Given the description of an element on the screen output the (x, y) to click on. 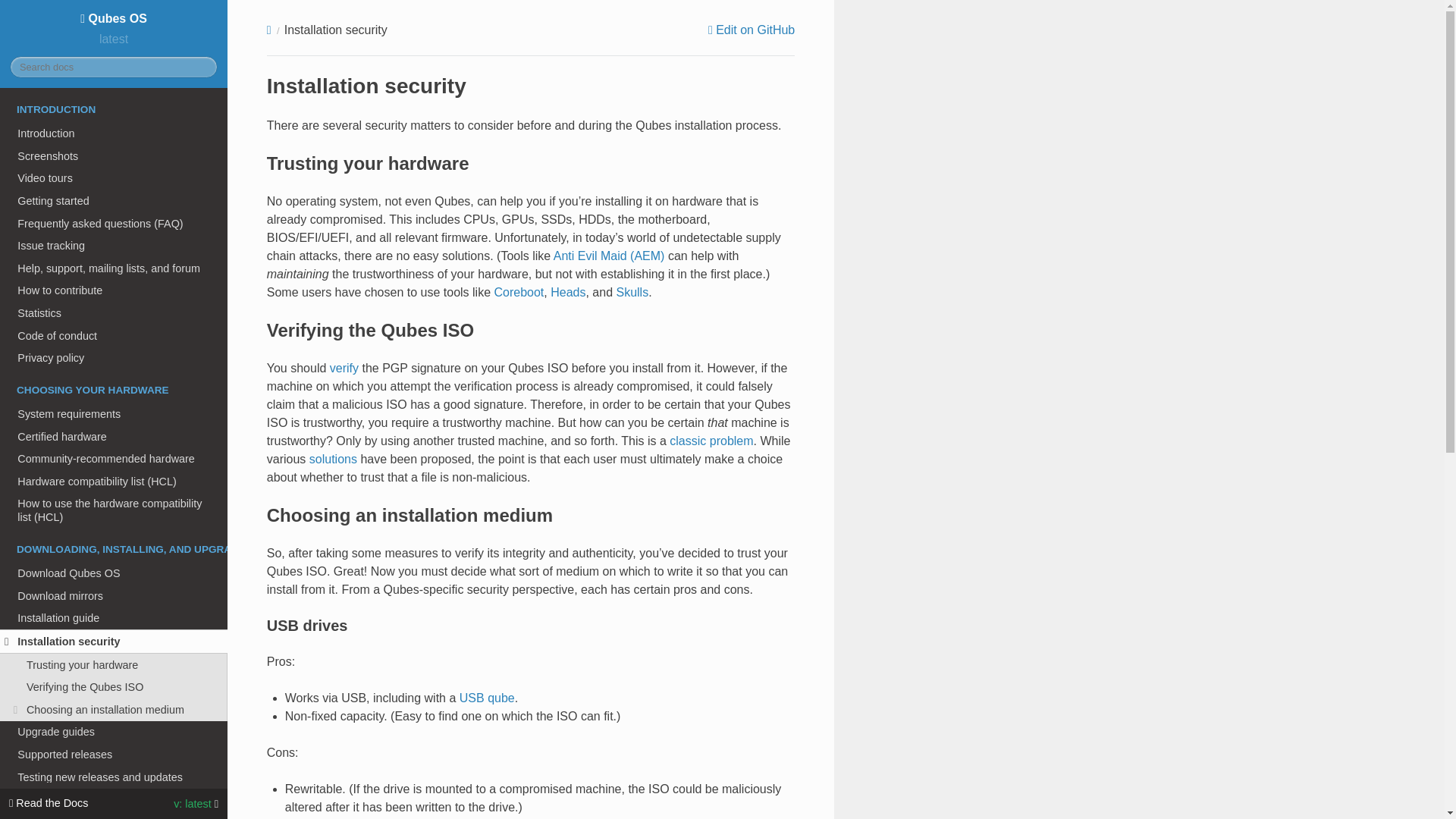
Choosing an installation medium (113, 709)
Introduction (113, 133)
Verifying the Qubes ISO (113, 686)
Community-recommended hardware (113, 458)
Download mirrors (113, 595)
Statistics (113, 313)
Trusting your hardware (113, 664)
Issue tracking (113, 245)
Certified hardware (113, 436)
Qubes OS (113, 18)
Privacy policy (113, 357)
Code of conduct (113, 335)
Testing new releases and updates (113, 776)
Video tours (113, 178)
Upgrade guides (113, 732)
